Given the description of an element on the screen output the (x, y) to click on. 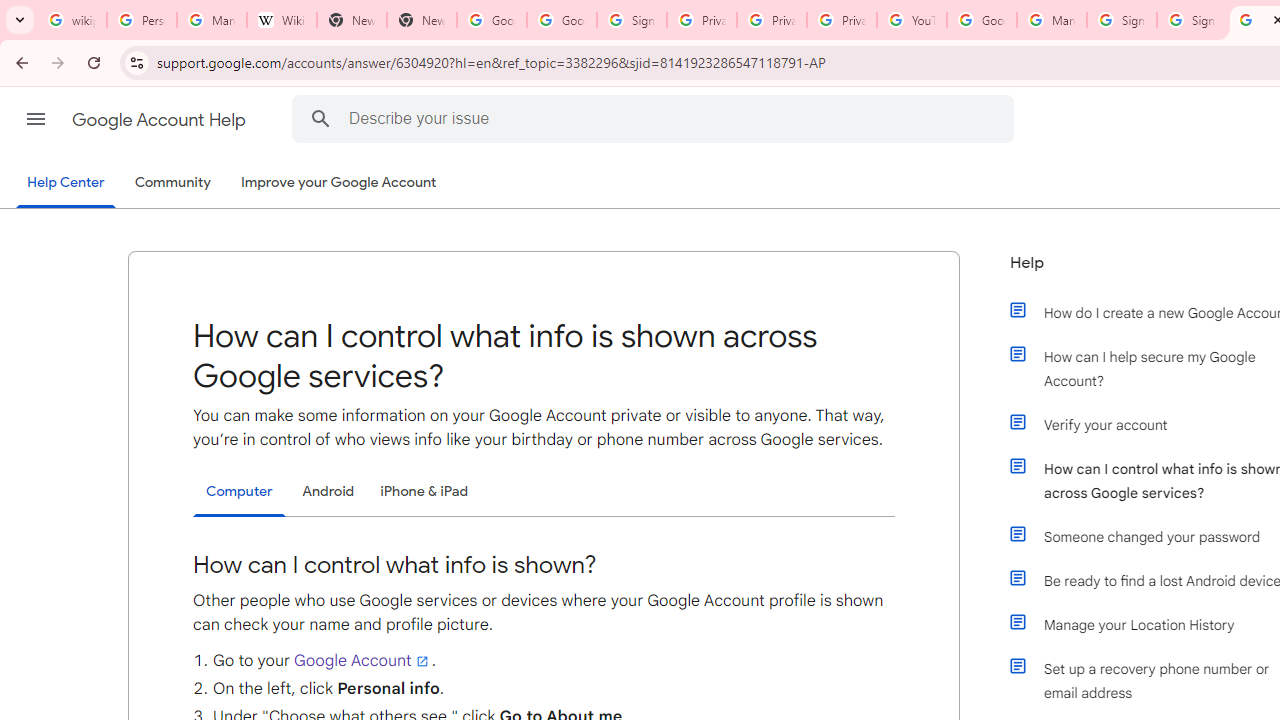
Sign in - Google Accounts (631, 20)
Search Help Center (320, 118)
New Tab (421, 20)
